Given the description of an element on the screen output the (x, y) to click on. 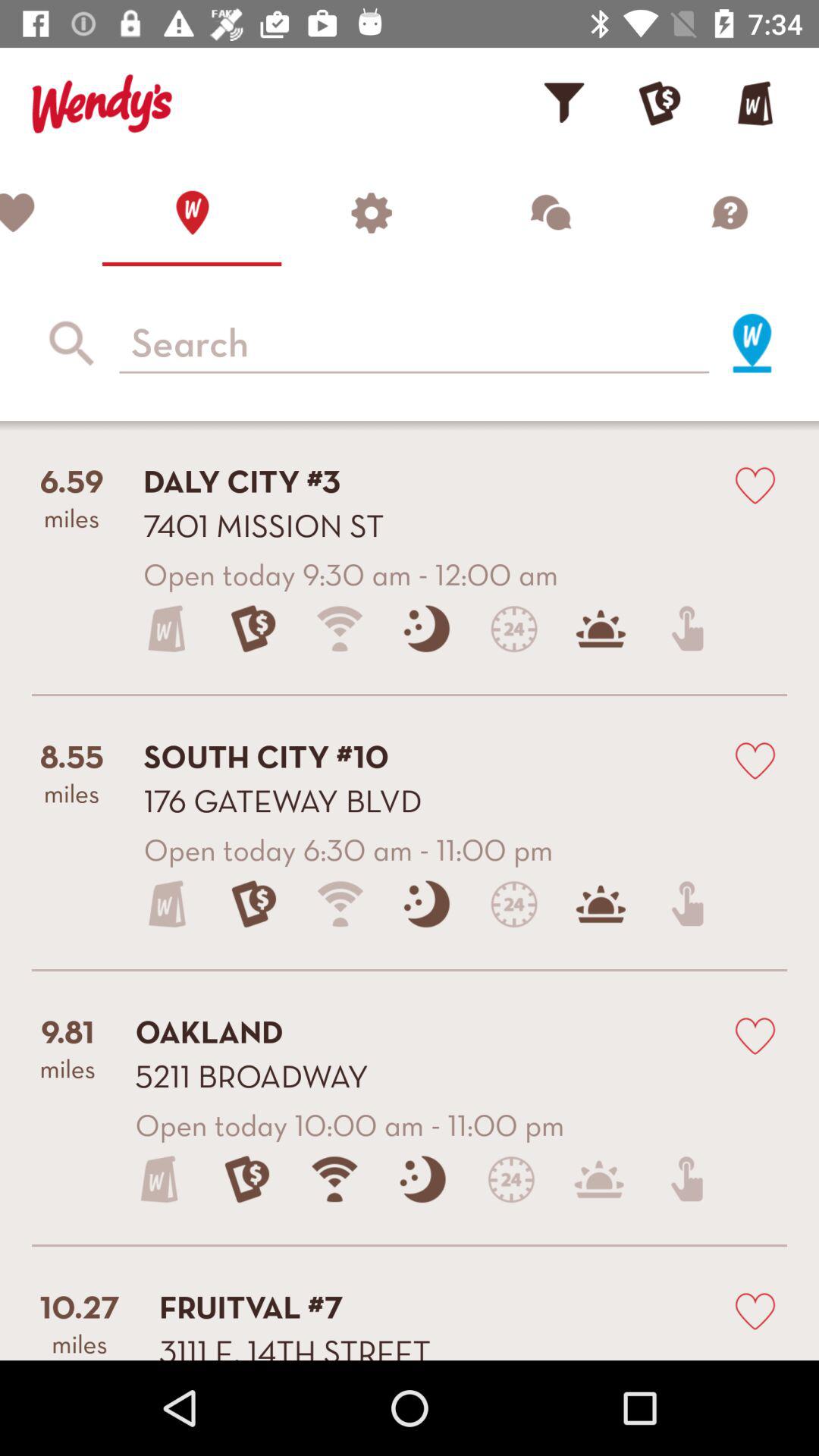
message (549, 212)
